Given the description of an element on the screen output the (x, y) to click on. 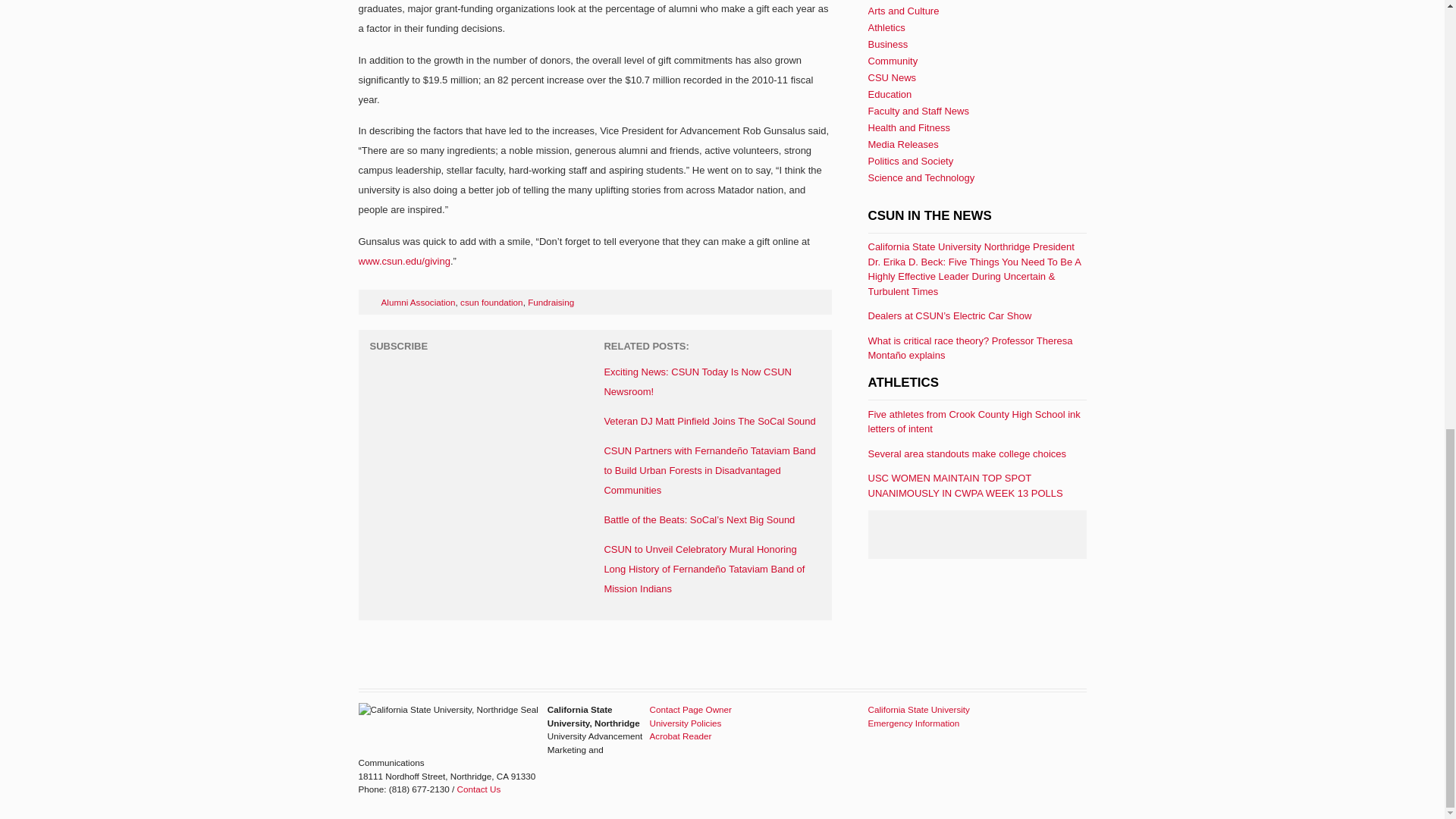
Fundraising (550, 302)
RSS (381, 373)
Exciting News: CSUN Today Is Now CSUN Newsroom! (698, 381)
Veteran DJ Matt Pinfield Joins The SoCal Sound (709, 420)
Facebook (435, 373)
Veteran DJ Matt Pinfield Joins The SoCal Sound (709, 420)
YouTube (461, 373)
Alumni Association (417, 302)
Exciting News: CSUN Today Is Now CSUN Newsroom! (698, 381)
Twitter (408, 373)
